Given the description of an element on the screen output the (x, y) to click on. 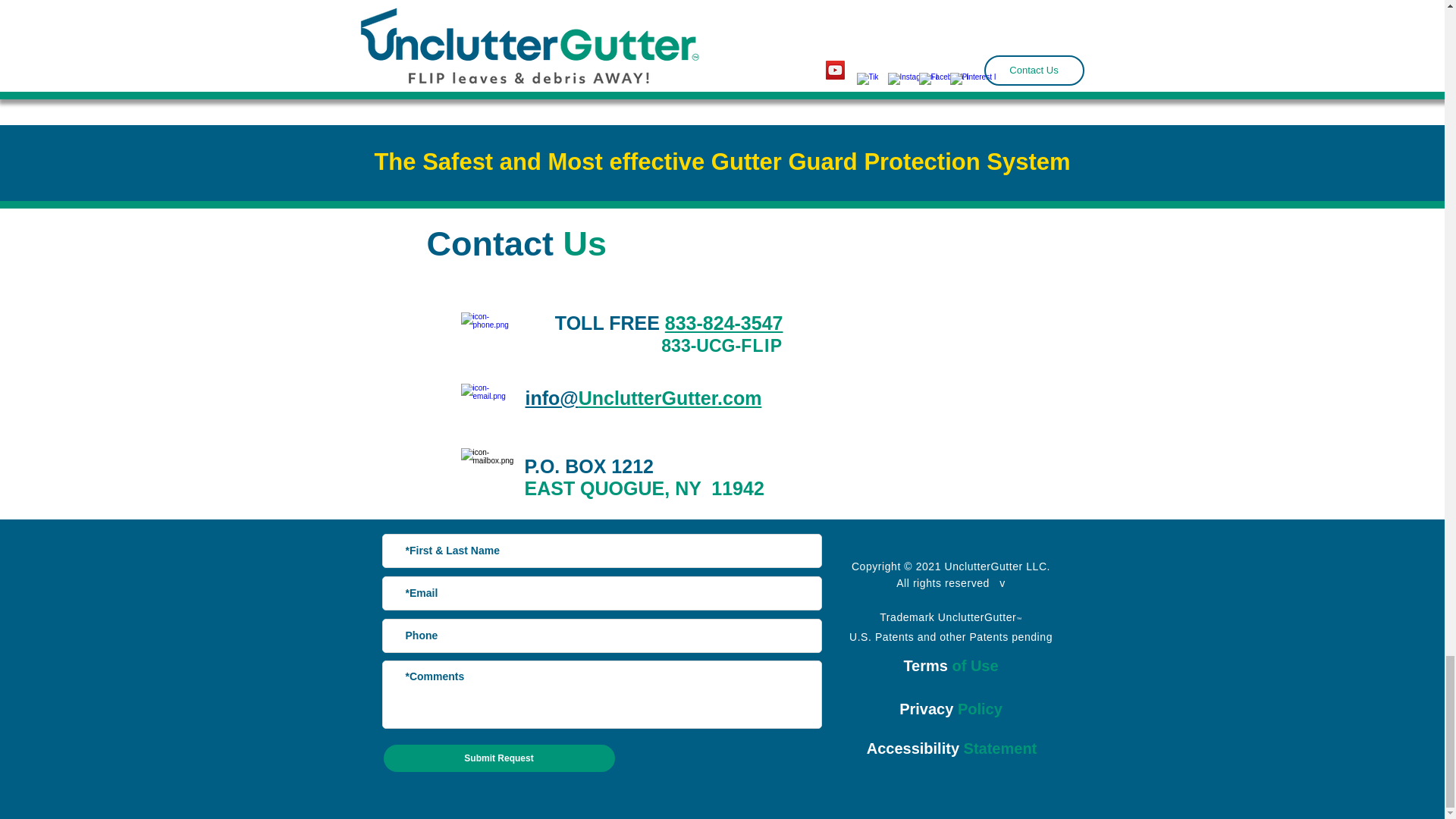
Submit Request (499, 758)
Privacy Policy (951, 709)
Terms of Use (949, 665)
Accessibility Statement (951, 748)
833-824-3547 (724, 322)
